Given the description of an element on the screen output the (x, y) to click on. 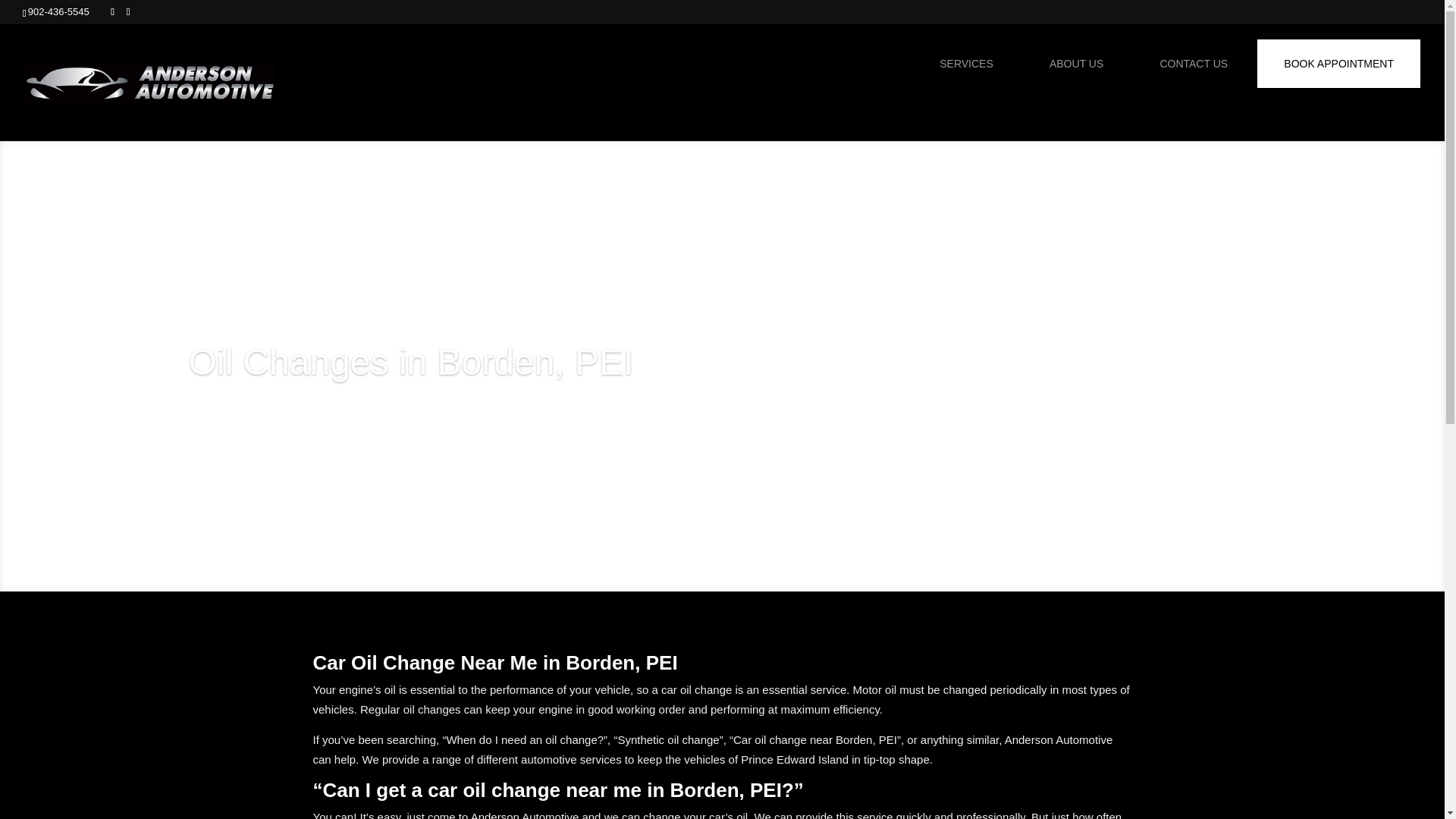
ABOUT US (1076, 63)
SERVICES (965, 63)
CONTACT US (1193, 63)
BOOK APPOINTMENT (1338, 63)
902-436-5545 (61, 11)
